Given the description of an element on the screen output the (x, y) to click on. 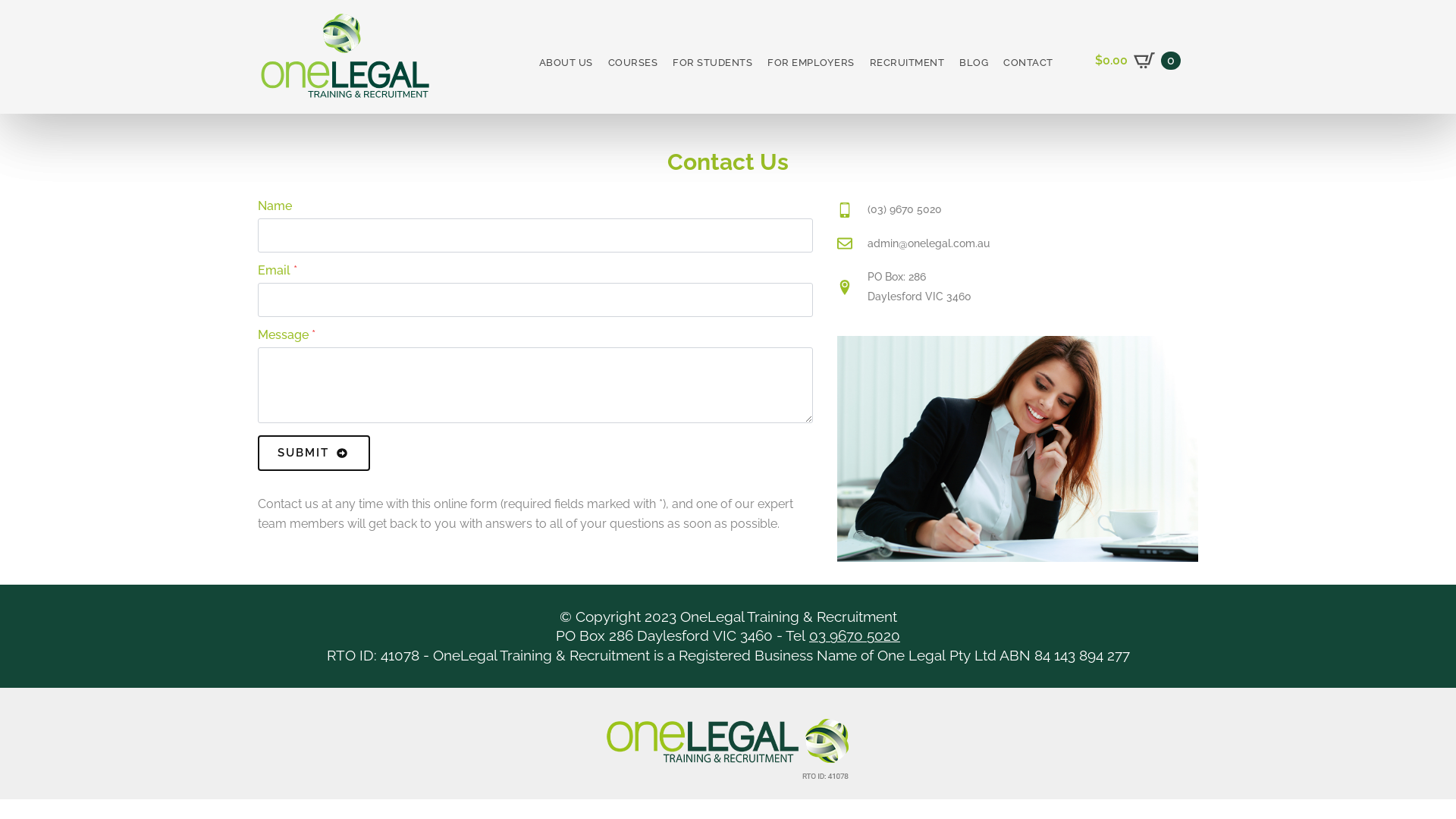
BLOG Element type: text (973, 62)
SUBMIT Element type: text (313, 452)
FOR STUDENTS Element type: text (712, 62)
03 9670 5020 Element type: text (854, 635)
$0.00
0 Element type: text (1137, 60)
FOR EMPLOYERS Element type: text (810, 62)
ABOUT US Element type: text (565, 62)
COURSES Element type: text (632, 62)
(03) 9670 5020 Element type: text (913, 209)
admin@onelegal.com.au Element type: text (913, 244)
RECRUITMENT Element type: text (907, 62)
CONTACT Element type: text (1027, 62)
